Given the description of an element on the screen output the (x, y) to click on. 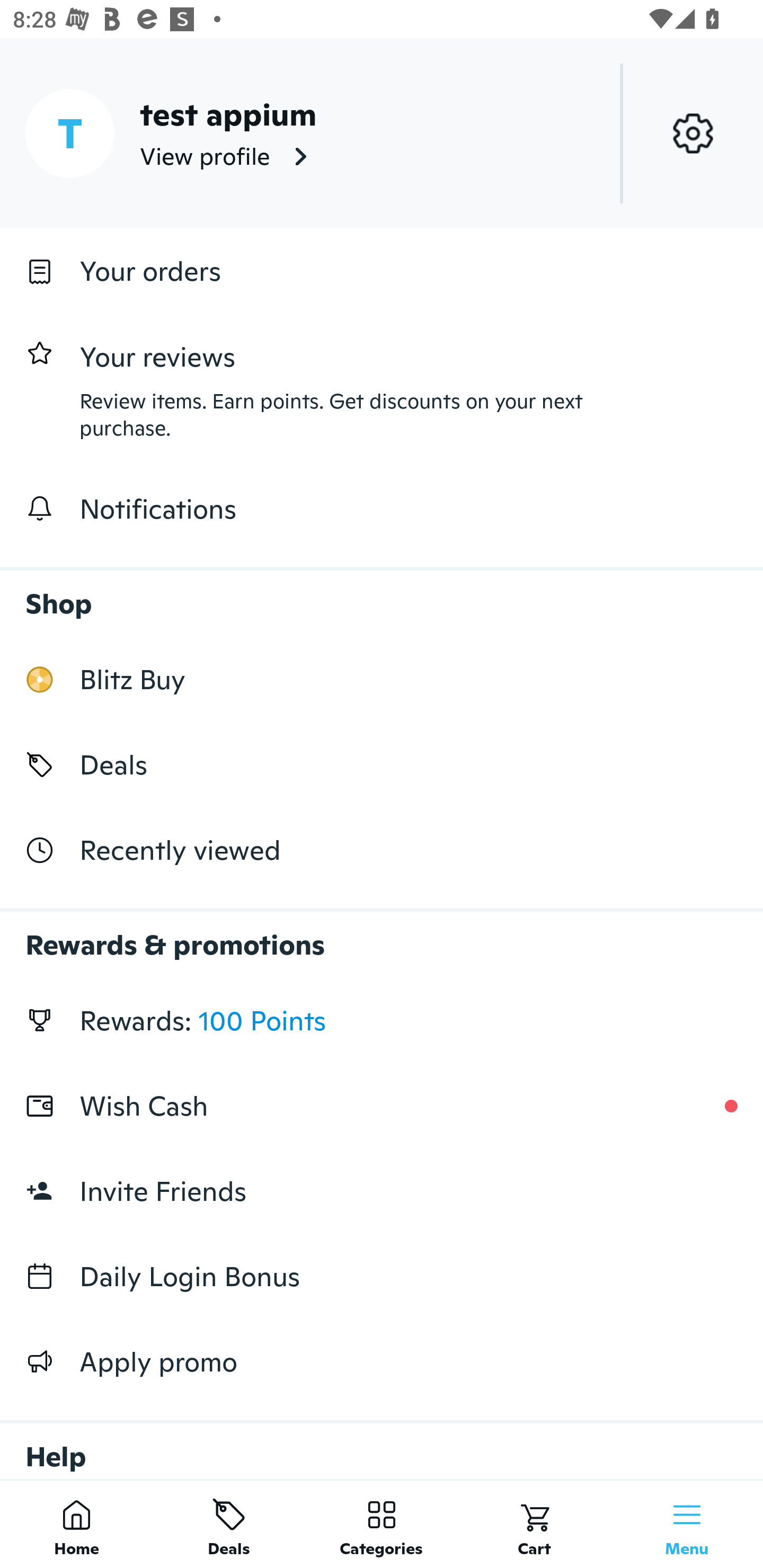
T test appium View profile (381, 132)
Your orders (381, 270)
Notifications (381, 508)
Shop (381, 593)
Blitz Buy (381, 679)
Deals (381, 764)
Recently viewed (381, 850)
Rewards & promotions (381, 935)
Rewards: 100 Points (381, 1020)
Wish Cash (381, 1106)
Invite Friends (381, 1190)
Daily Login Bonus (381, 1277)
Apply promo (381, 1361)
Help (381, 1441)
Home (76, 1523)
Deals (228, 1523)
Categories (381, 1523)
Cart (533, 1523)
Menu (686, 1523)
